Given the description of an element on the screen output the (x, y) to click on. 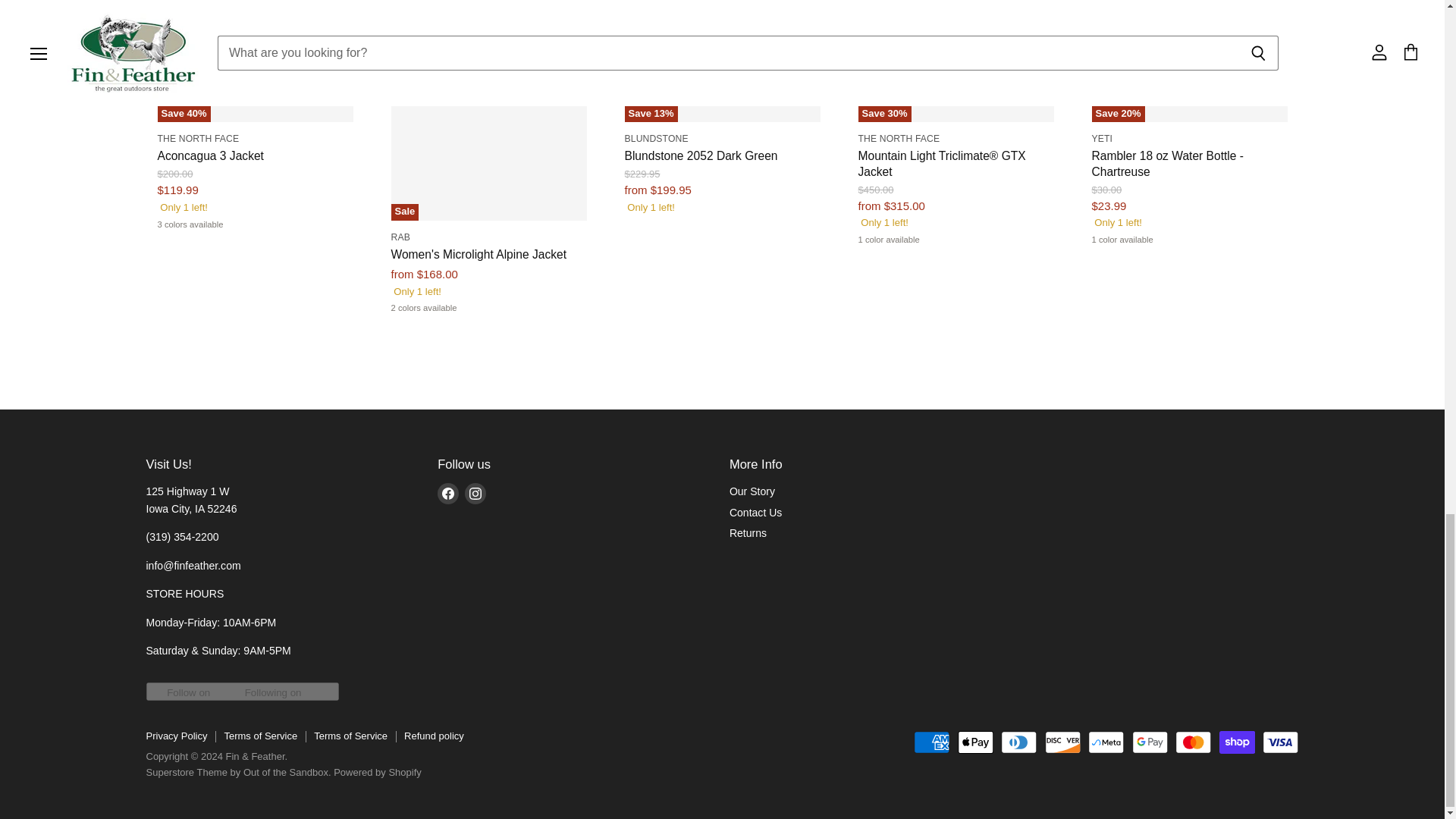
Facebook (447, 492)
Instagram (475, 492)
